Given the description of an element on the screen output the (x, y) to click on. 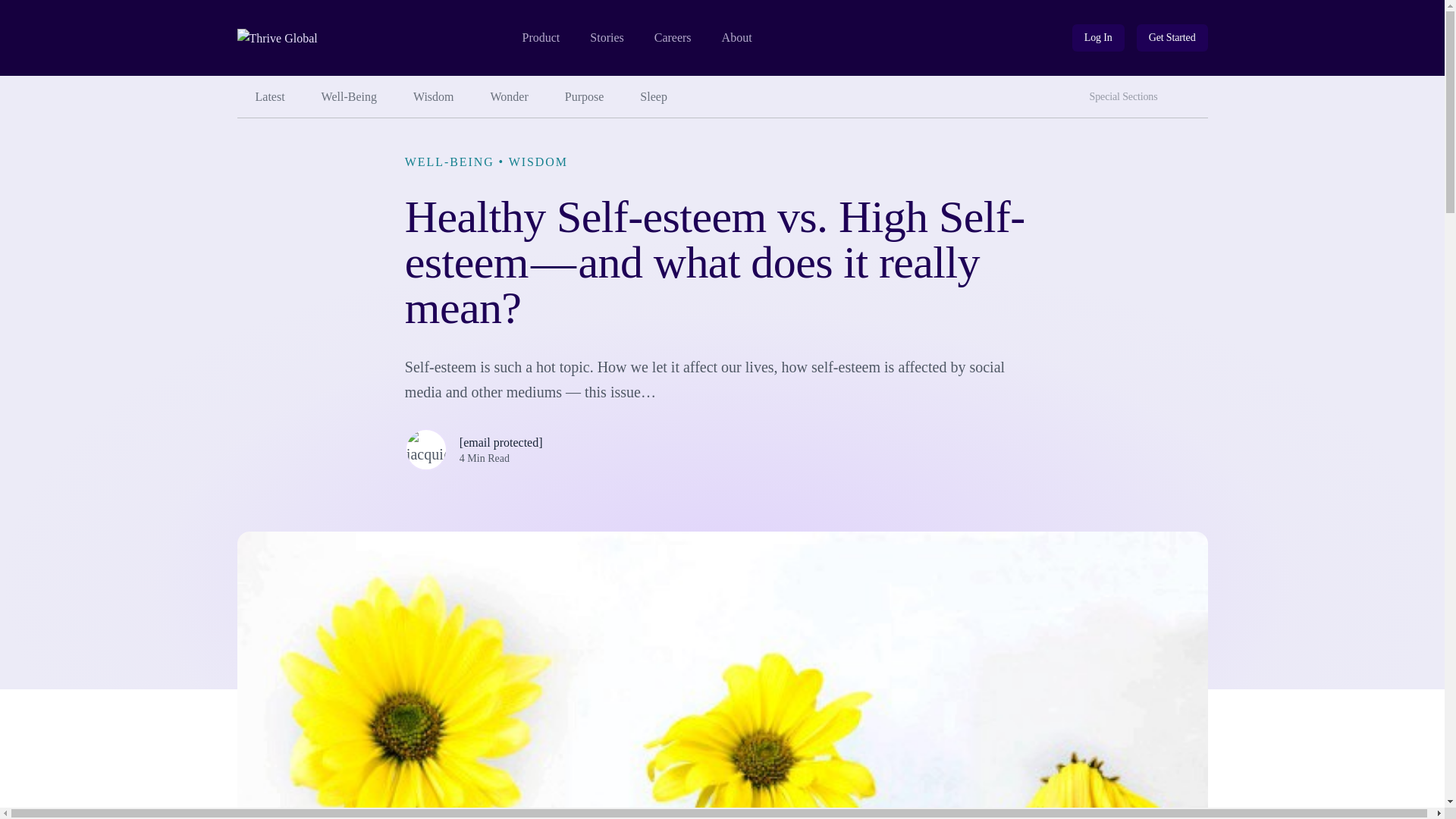
Wisdom (432, 96)
Log In (1097, 37)
btn-info (1097, 37)
Product (540, 37)
Well-Being (348, 96)
Wonder (509, 96)
Stories (606, 37)
Latest (268, 96)
btn-primary (1172, 37)
Purpose (585, 96)
